Given the description of an element on the screen output the (x, y) to click on. 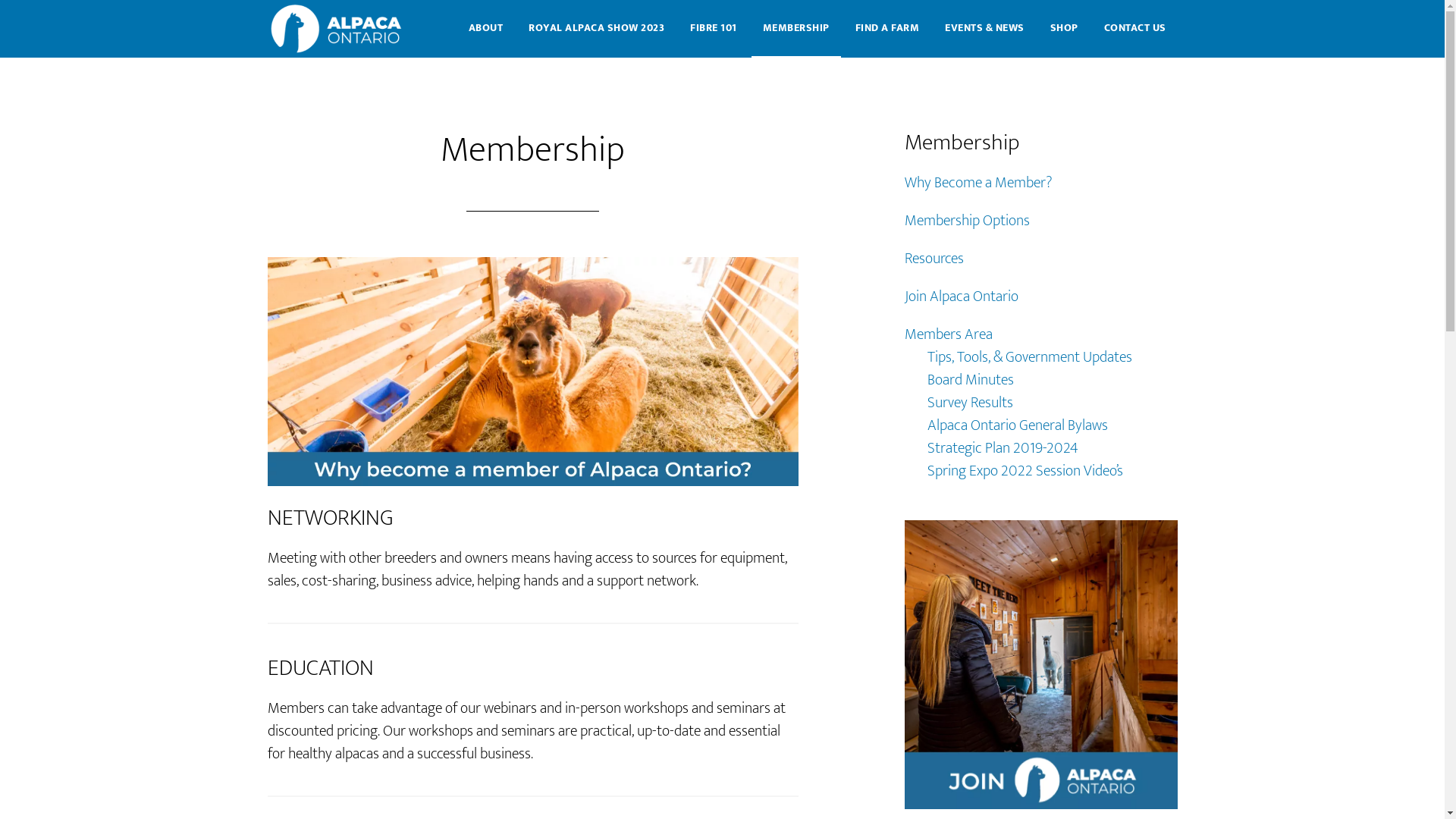
FIBRE 101 Element type: text (713, 28)
ABOUT Element type: text (485, 28)
Strategic Plan 2019-2024 Element type: text (1001, 448)
Board Minutes Element type: text (969, 379)
CONTACT US Element type: text (1134, 28)
Why Become a Member? Element type: text (977, 182)
Tips, Tools, & Government Updates Element type: text (1028, 357)
Membership Options Element type: text (966, 220)
ALPACA ONTARIO Element type: text (338, 28)
SHOP Element type: text (1063, 28)
Join Alpaca Ontario Element type: text (960, 296)
MEMBERSHIP Element type: text (795, 28)
ROYAL ALPACA SHOW 2023 Element type: text (596, 28)
EVENTS & NEWS Element type: text (984, 28)
Alpaca Ontario General Bylaws Element type: text (1016, 425)
Members Area Element type: text (947, 334)
Skip to main content Element type: text (0, 0)
FIND A FARM Element type: text (886, 28)
Resources Element type: text (933, 258)
Survey Results Element type: text (969, 402)
